Given the description of an element on the screen output the (x, y) to click on. 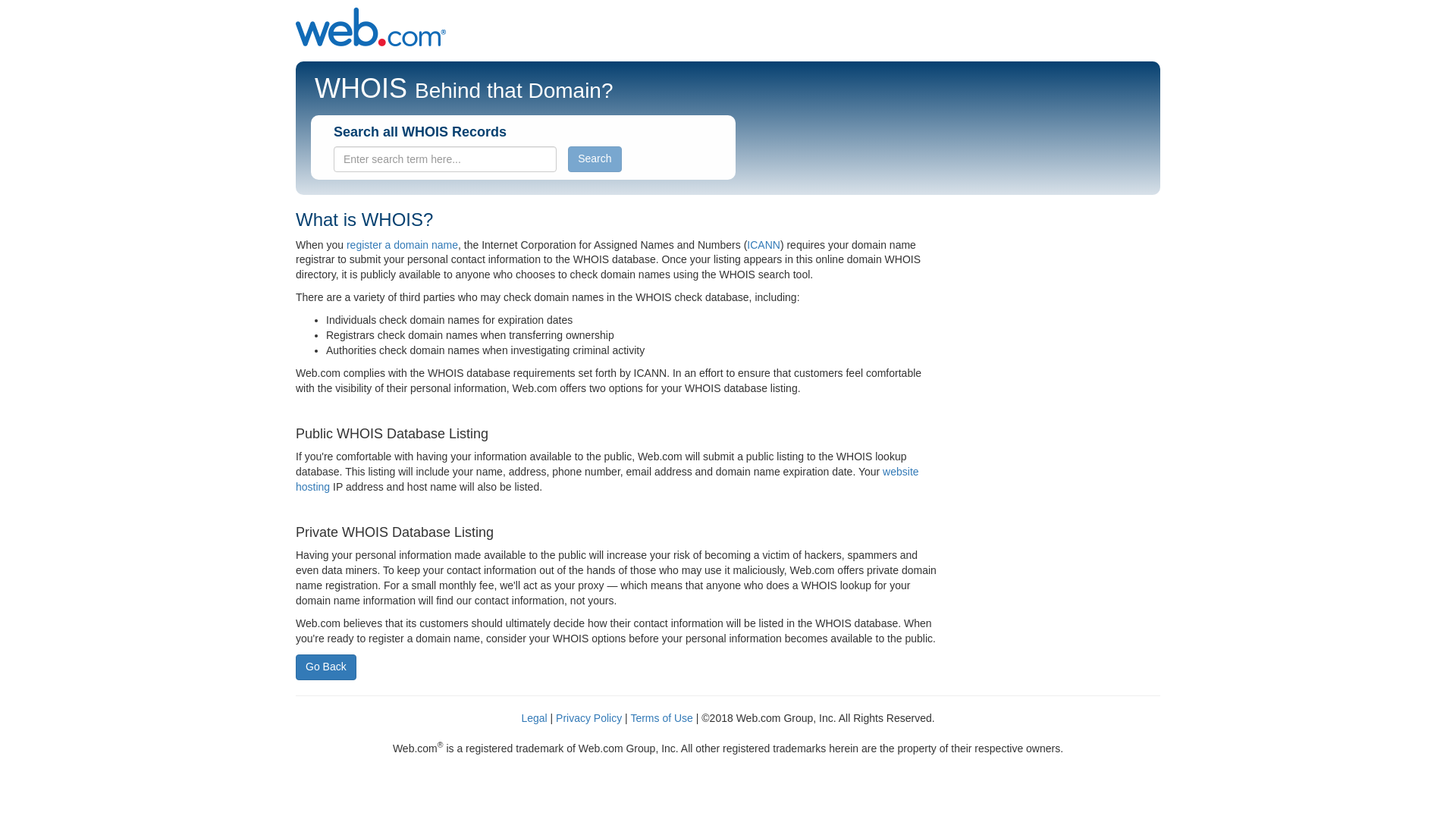
Search (594, 158)
Privacy Policy (590, 717)
website hosting (606, 479)
register a domain name (402, 244)
Legal (534, 717)
ICANN (763, 244)
Terms of Use (661, 717)
Go Back (325, 667)
Search (594, 158)
